Given the description of an element on the screen output the (x, y) to click on. 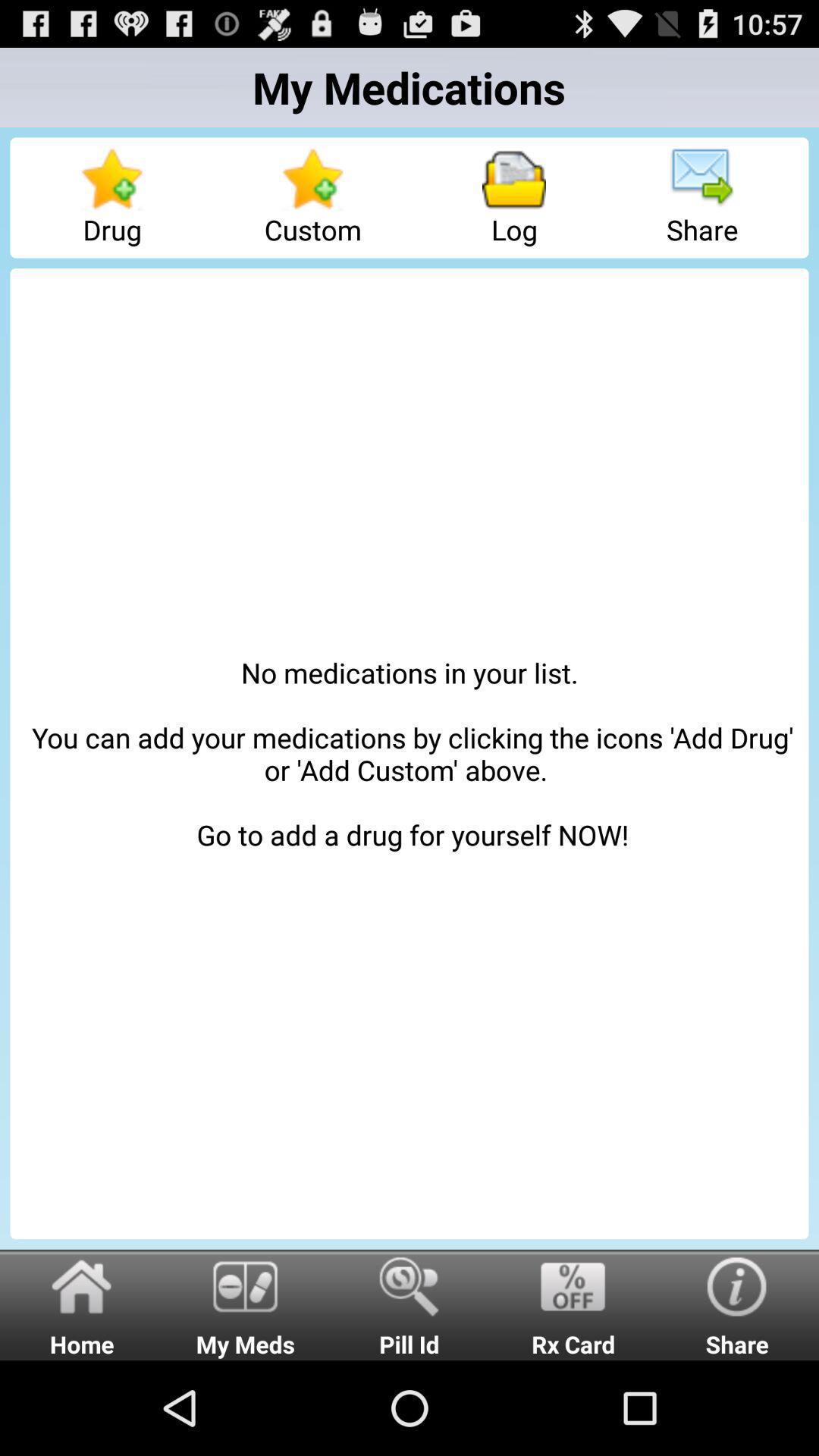
turn on the radio button next to the share (573, 1304)
